Given the description of an element on the screen output the (x, y) to click on. 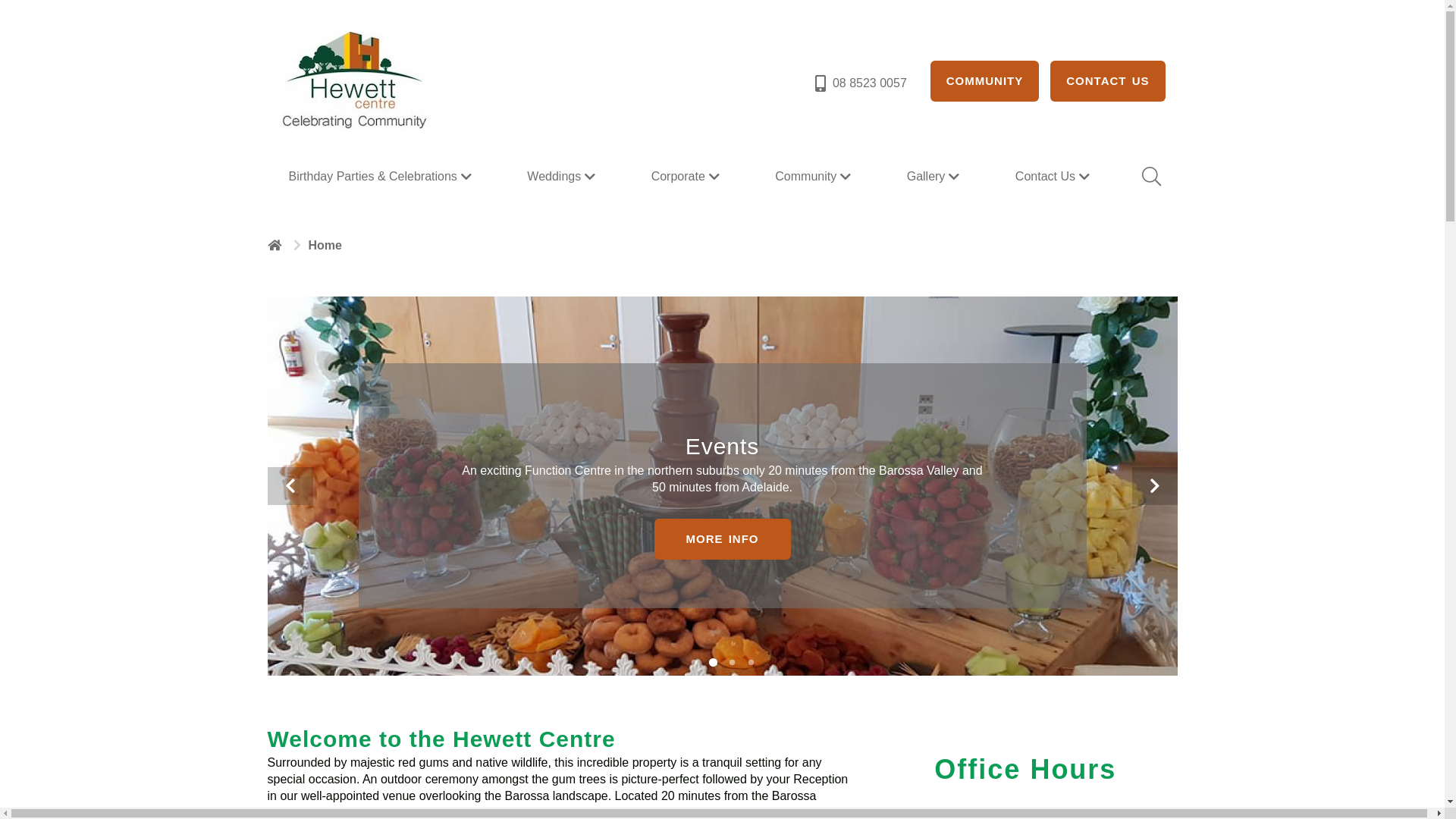
Next Element type: text (1153, 486)
  Element type: text (275, 244)
Prev Element type: text (289, 486)
08 8523 0057 Element type: text (859, 82)
Contact Us Element type: text (1054, 176)
Community Element type: text (814, 176)
Corporate Element type: text (687, 176)
CONTACT US Element type: text (1107, 80)
Birthday Parties & Celebrations Element type: text (381, 176)
Weddings Element type: text (562, 176)
Search Element type: text (1150, 176)
MORE INFO Element type: text (721, 538)
COMMUNITY Element type: text (984, 80)
Gallery Element type: text (934, 176)
